Given the description of an element on the screen output the (x, y) to click on. 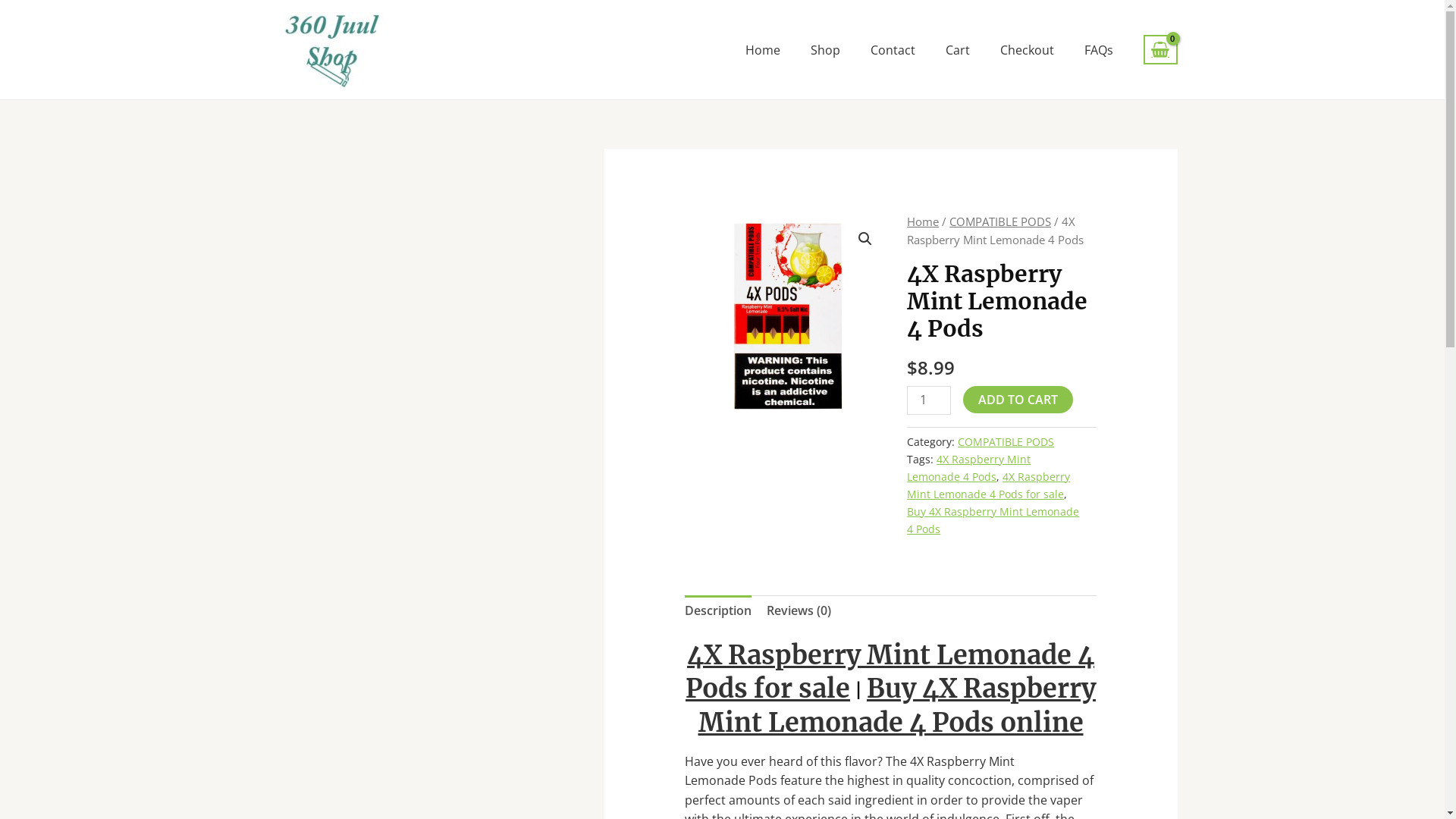
Reviews (0) Element type: text (798, 611)
Contact Element type: text (892, 48)
4X Raspberry Mint Lemonade 4 Pods for sale Element type: text (988, 485)
Shop Element type: text (825, 48)
FAQs Element type: text (1098, 48)
Home Element type: text (762, 48)
4X Raspberry Mint Lemonade 4 Pods for sale Element type: text (889, 671)
Home Element type: text (922, 221)
Qty Element type: hover (928, 399)
Buy 4X Raspberry Mint Lemonade 4 Pods Element type: text (992, 520)
COMPATIBLE PODS Element type: text (1000, 221)
Cart Element type: text (957, 48)
COMPATIBLE PODS Element type: text (1005, 441)
Buy 4X Raspberry Mint Lemonade 4 Pods online Element type: text (896, 704)
Description Element type: text (717, 611)
4X Raspberry Mint Lemonade 4 Pods Element type: hover (787, 315)
ADD TO CART Element type: text (1018, 399)
Checkout Element type: text (1027, 48)
4X Raspberry Mint Lemonade 4 Pods Element type: text (968, 467)
